Given the description of an element on the screen output the (x, y) to click on. 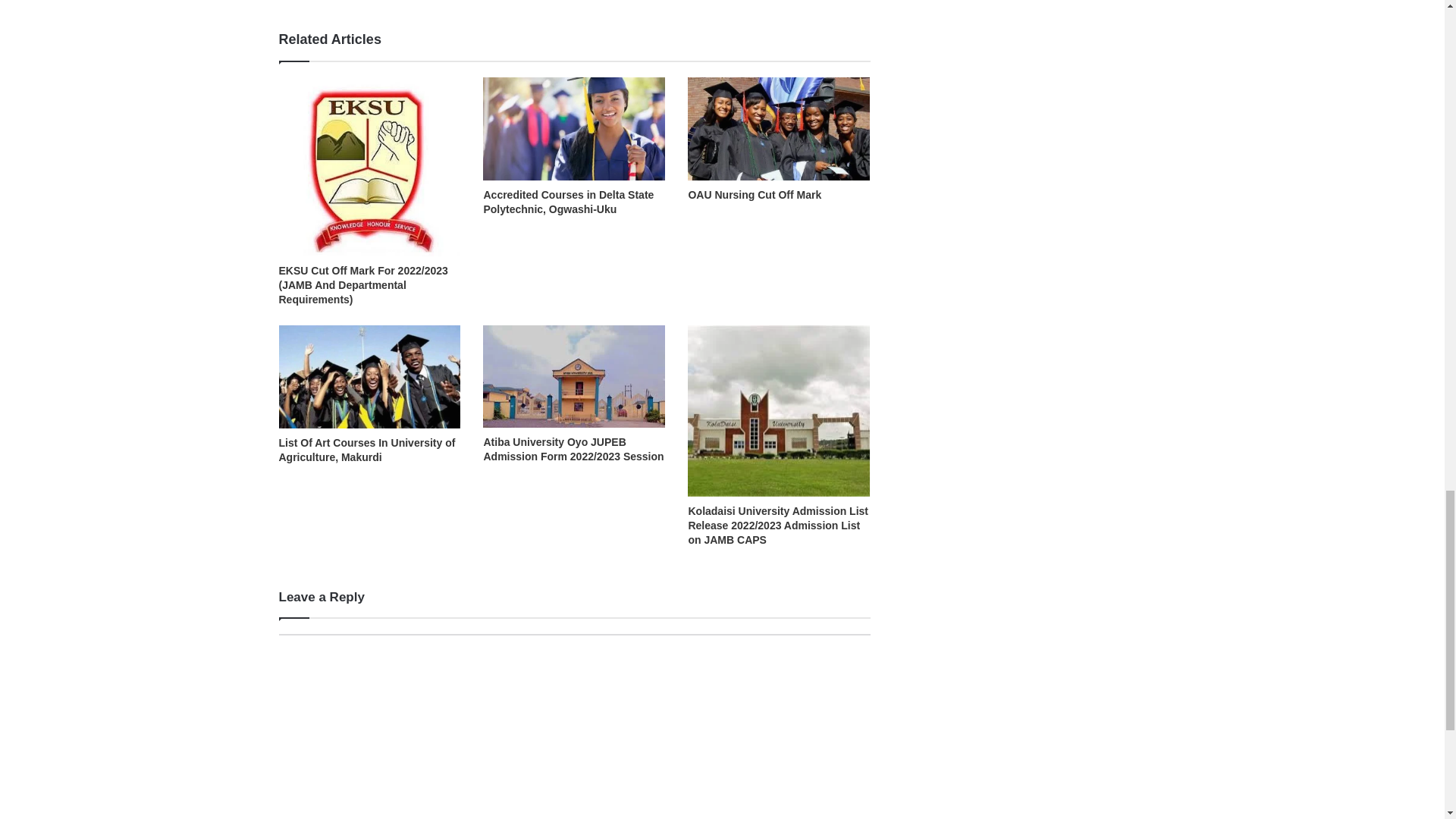
OAU Nursing Cut Off Mark (754, 194)
List Of Art Courses In University of Agriculture, Makurdi (367, 449)
Accredited Courses in Delta State Polytechnic, Ogwashi-Uku (568, 202)
